Given the description of an element on the screen output the (x, y) to click on. 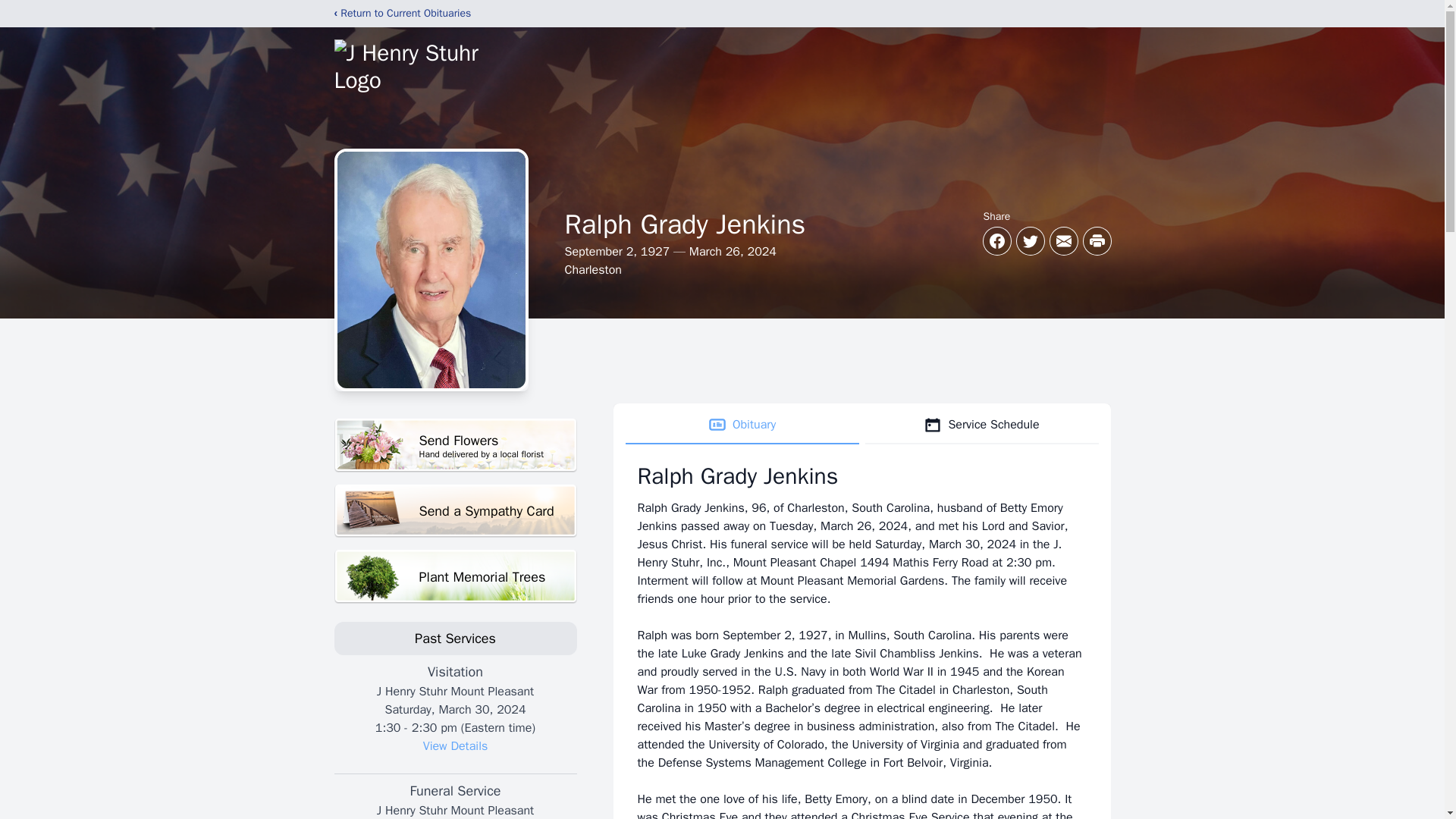
Service Schedule (454, 445)
View Details (980, 425)
Obituary (455, 745)
Send a Sympathy Card (741, 425)
Plant Memorial Trees (454, 511)
